Given the description of an element on the screen output the (x, y) to click on. 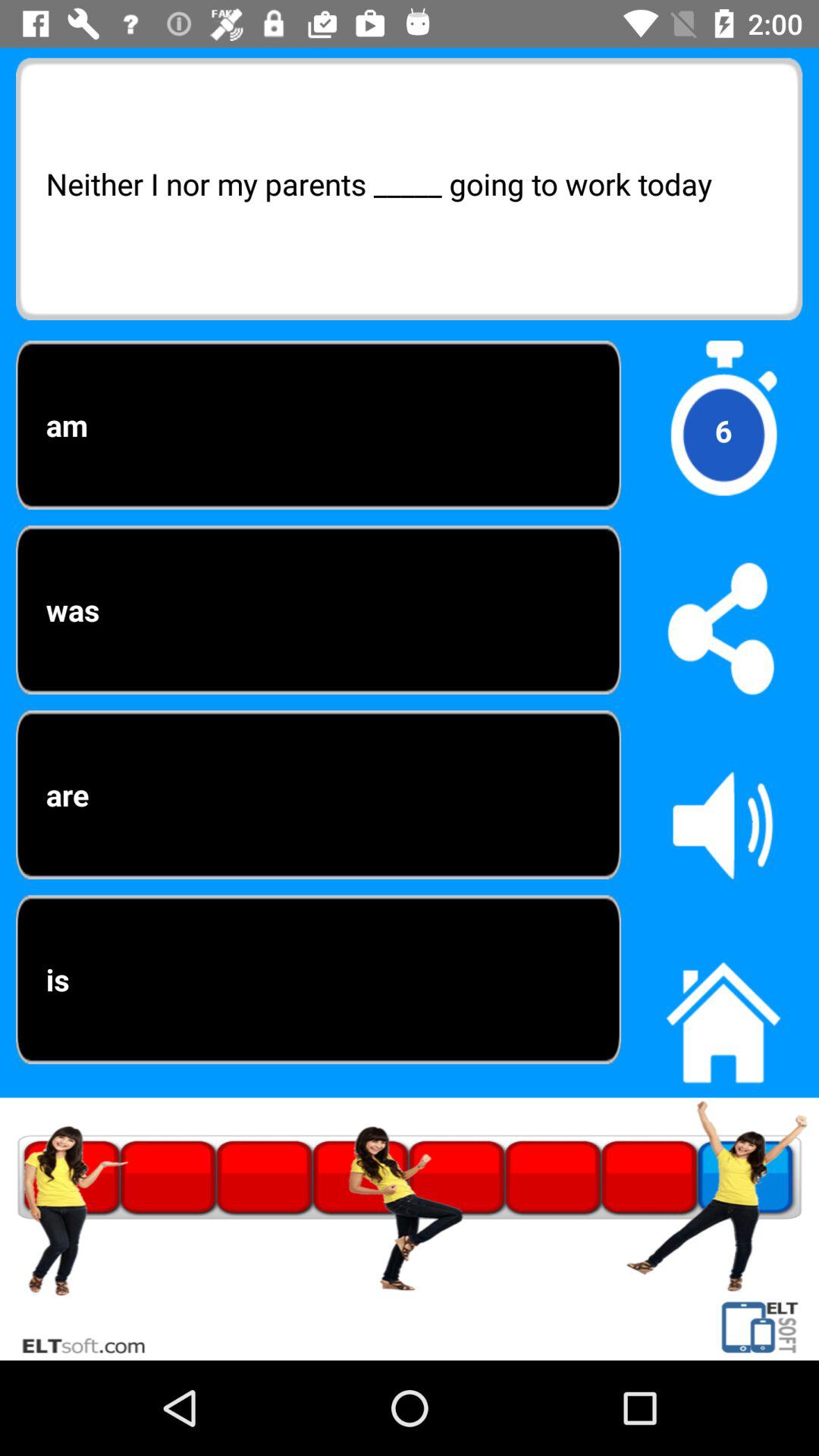
flip to the am (318, 424)
